Given the description of an element on the screen output the (x, y) to click on. 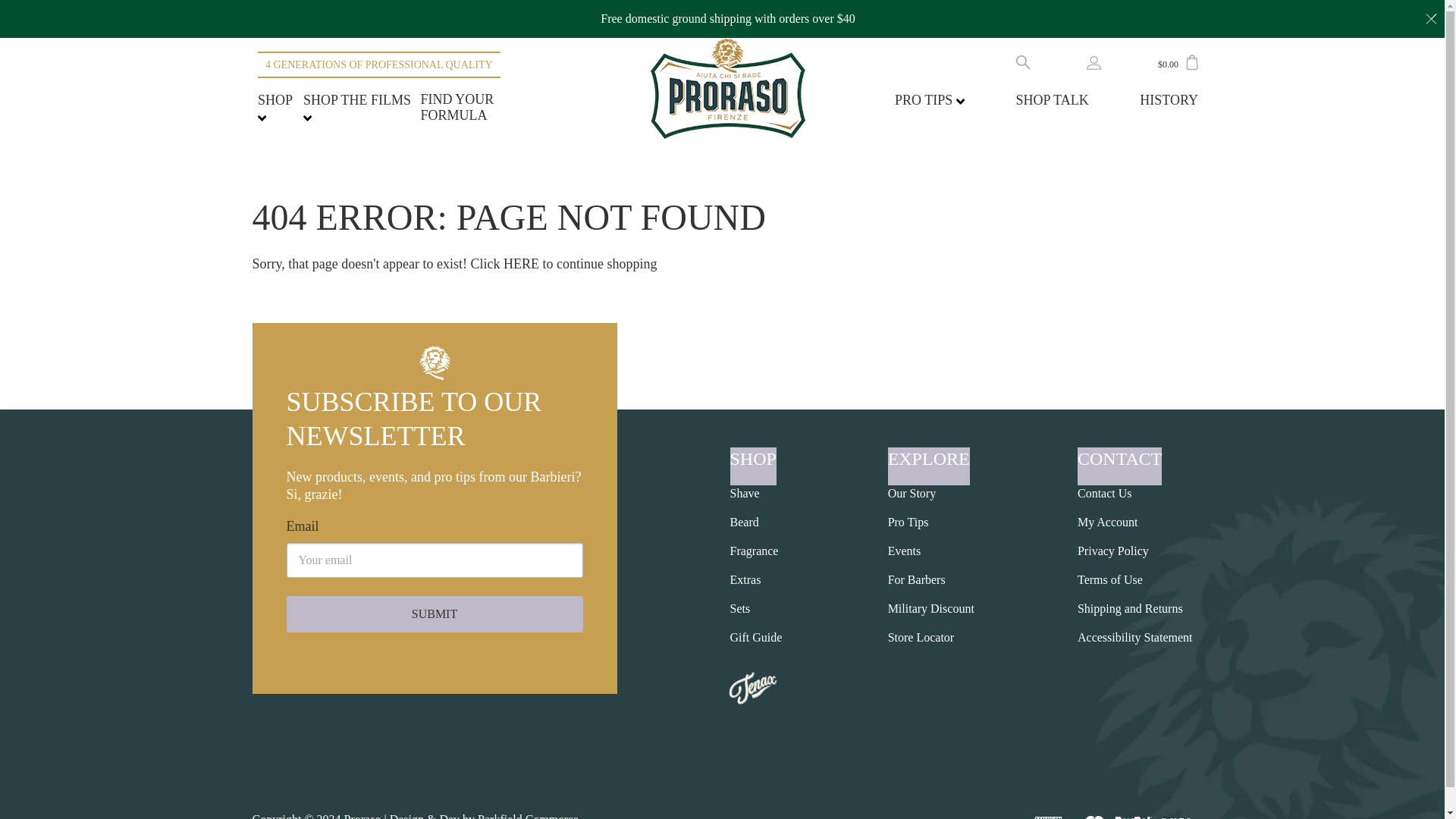
ACCOUNT (1094, 64)
Cart (1192, 62)
SHOP (274, 108)
ACCOUNT (1094, 62)
SHOP THE FILMS (356, 108)
Search (1023, 61)
Proraso USA (727, 87)
